Given the description of an element on the screen output the (x, y) to click on. 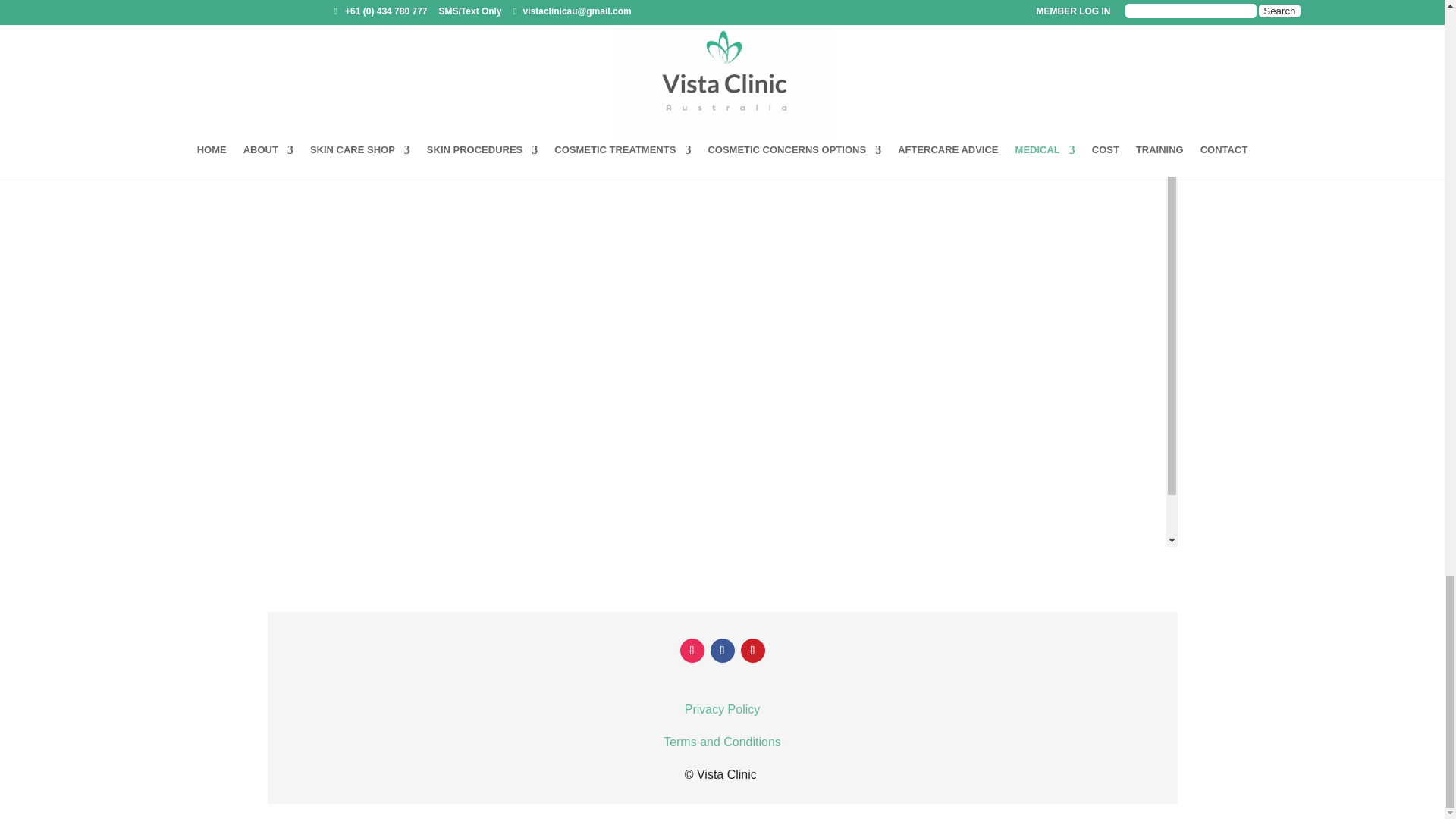
Follow on Facebook (721, 650)
Follow on Instagram (691, 650)
Follow on Pinterest (751, 650)
